Given the description of an element on the screen output the (x, y) to click on. 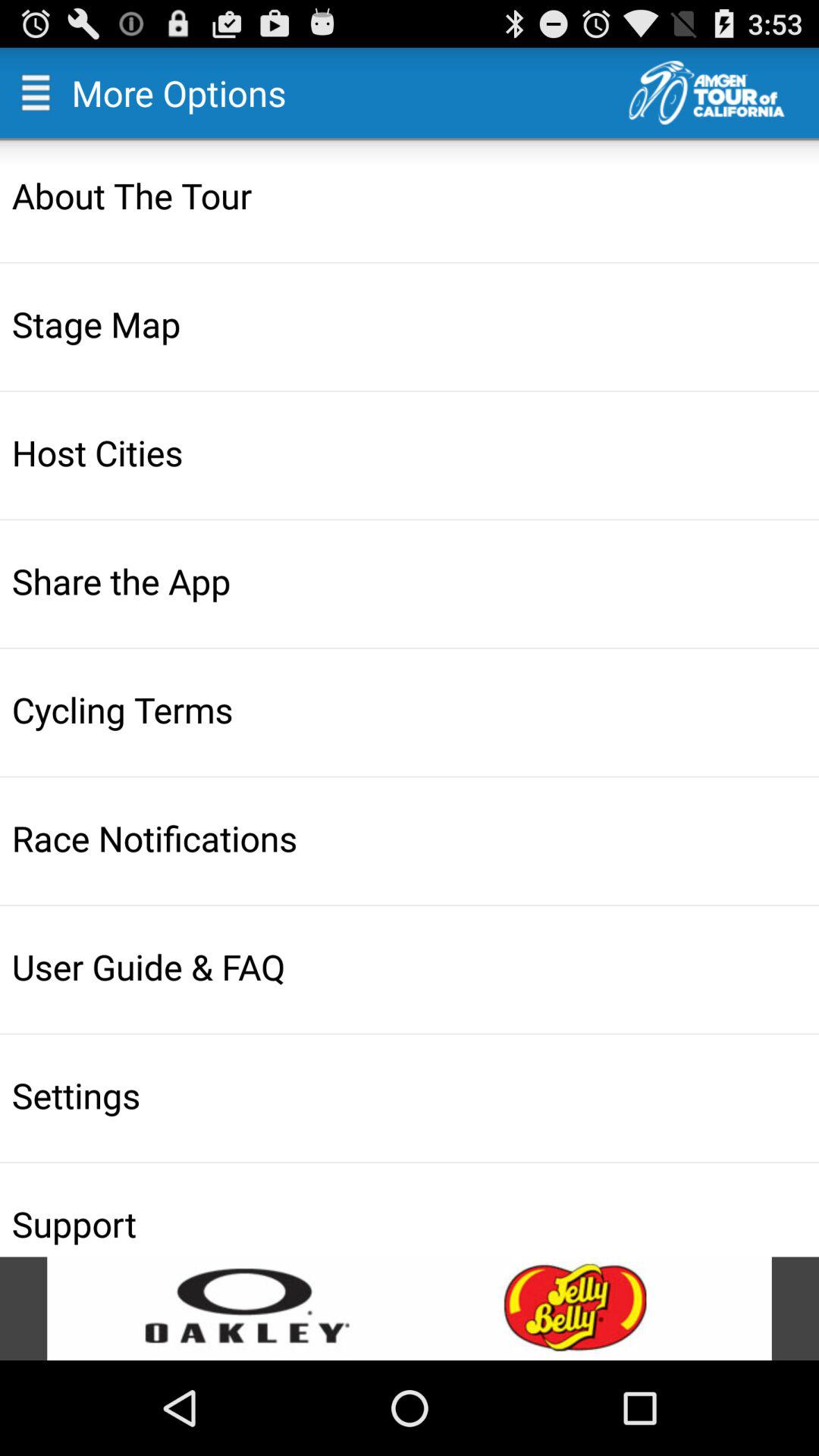
amgen tour of california is supported by oakley and jelly belly (409, 1308)
